Given the description of an element on the screen output the (x, y) to click on. 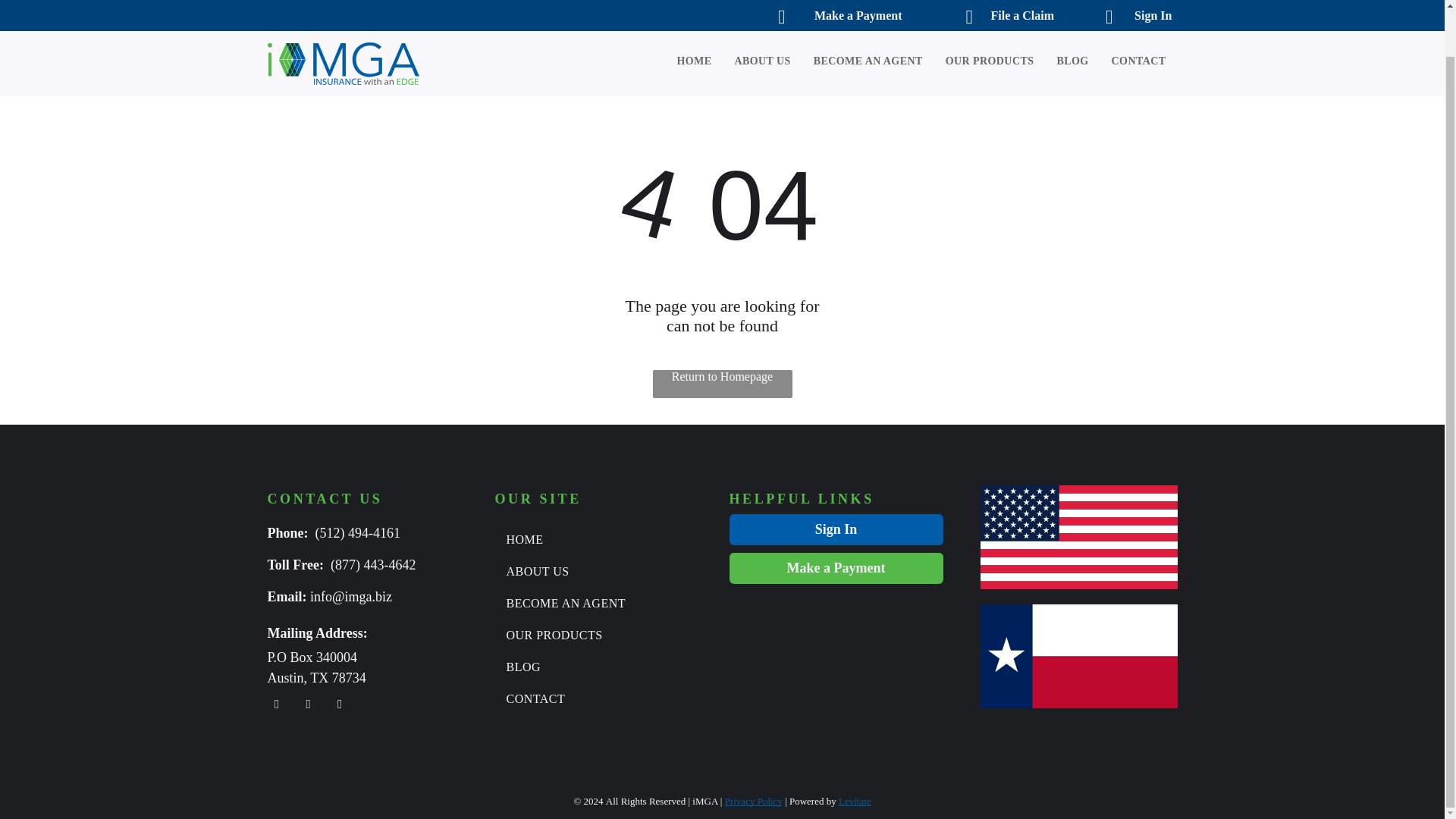
ABOUT US (750, 11)
OUR PRODUCTS (596, 635)
CONTACT (1127, 11)
HOME (596, 540)
HOME (682, 11)
BECOME AN AGENT (596, 603)
BLOG (596, 667)
Return to Homepage (722, 384)
OUR PRODUCTS (978, 11)
Sign In (836, 529)
CONTACT (596, 698)
ABOUT US (596, 572)
BECOME AN AGENT (856, 11)
BLOG (1060, 11)
